Given the description of an element on the screen output the (x, y) to click on. 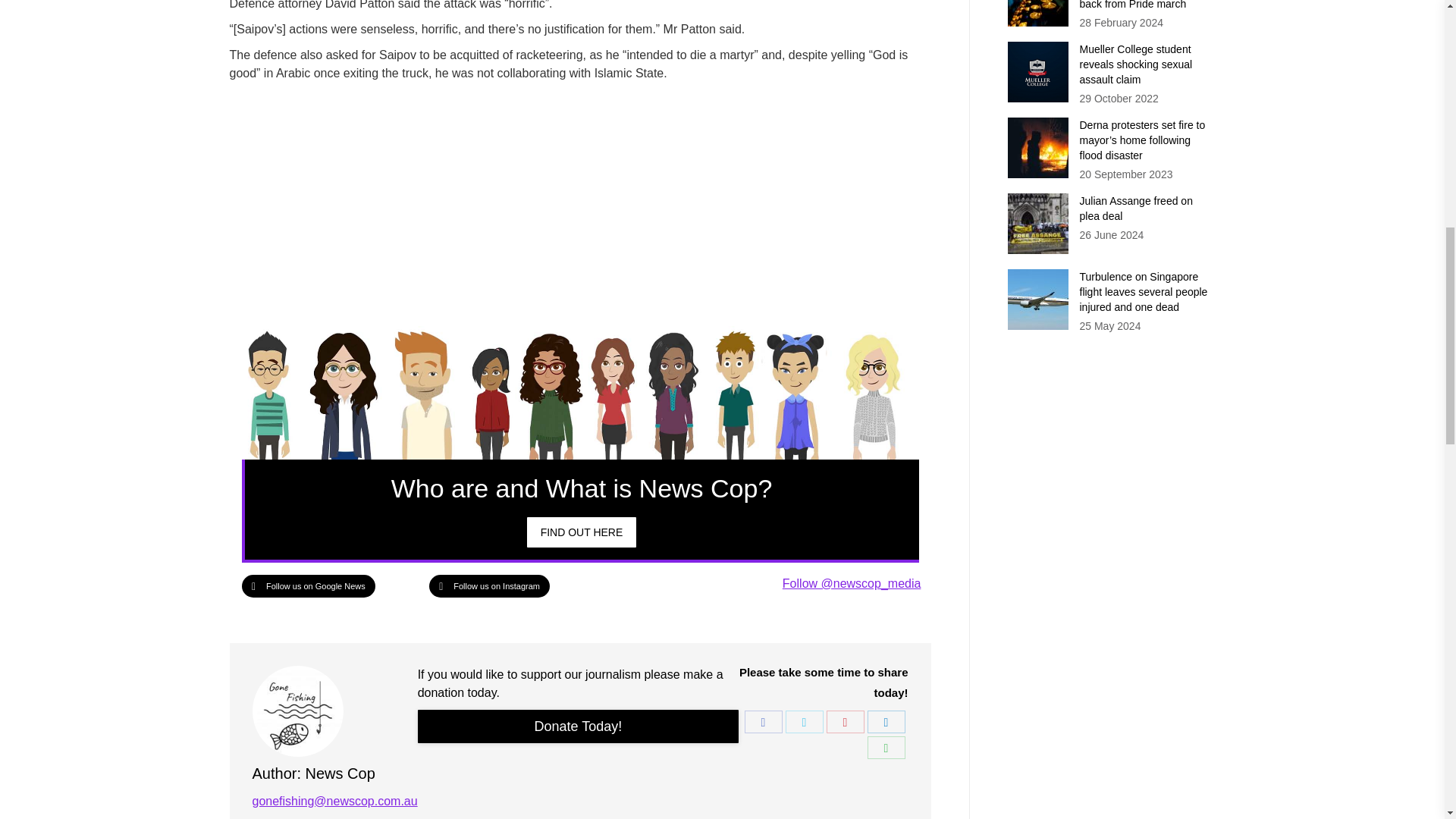
Twitter (805, 721)
Facebook (763, 721)
Pinterest (845, 721)
Protests in Solomon Islands result in lockdown (582, 531)
HD people heads (579, 391)
Complaints Form (578, 726)
